Given the description of an element on the screen output the (x, y) to click on. 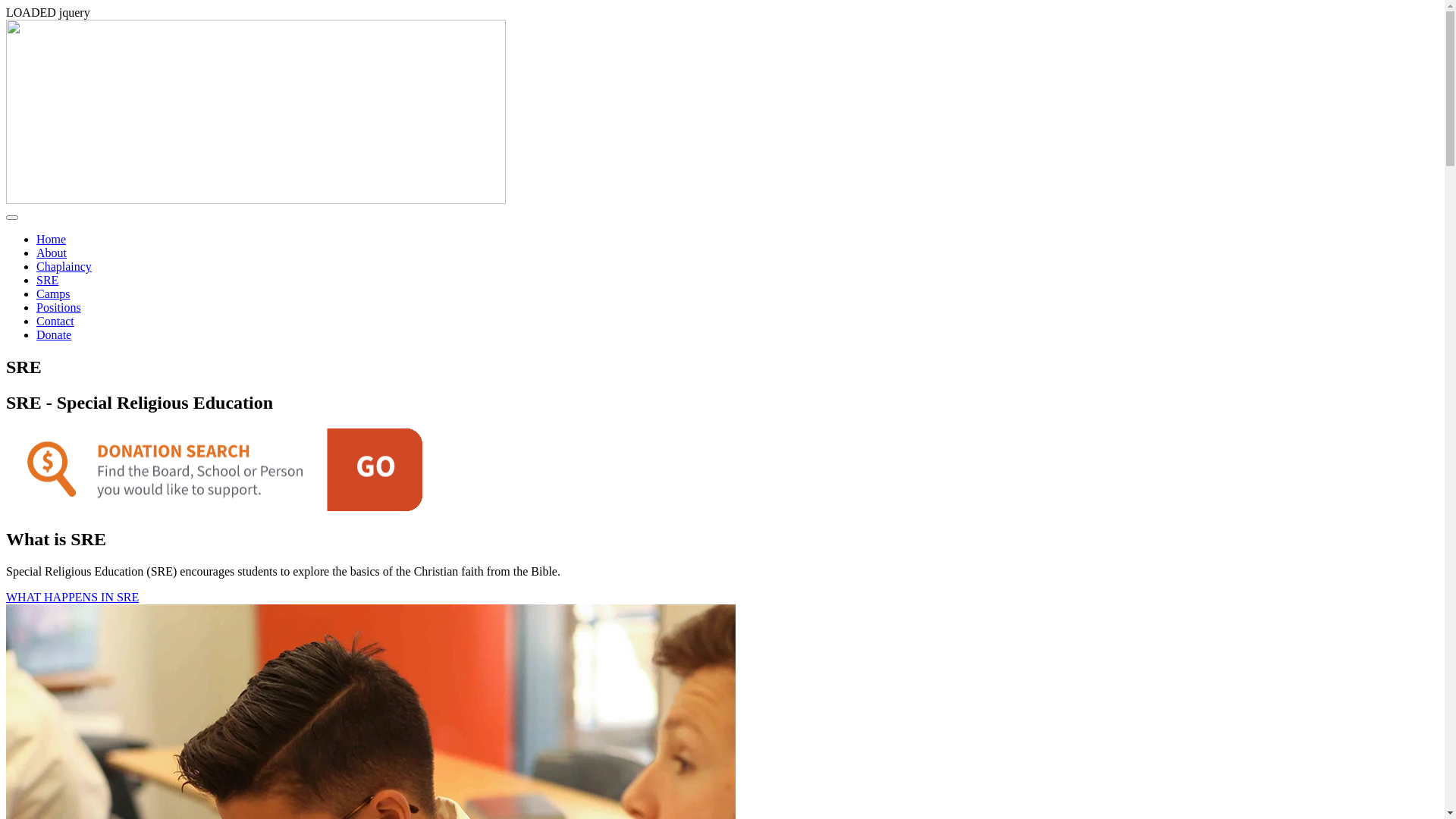
button-landing-donate Element type: hover (214, 469)
Home Element type: text (50, 238)
WHAT HAPPENS IN SRE Element type: text (72, 596)
Contact Element type: text (55, 320)
Chaplaincy Element type: text (63, 266)
Donate Element type: text (53, 334)
SRE Element type: text (47, 279)
Positions Element type: text (58, 307)
About Element type: text (51, 252)
Camps Element type: text (52, 293)
